Given the description of an element on the screen output the (x, y) to click on. 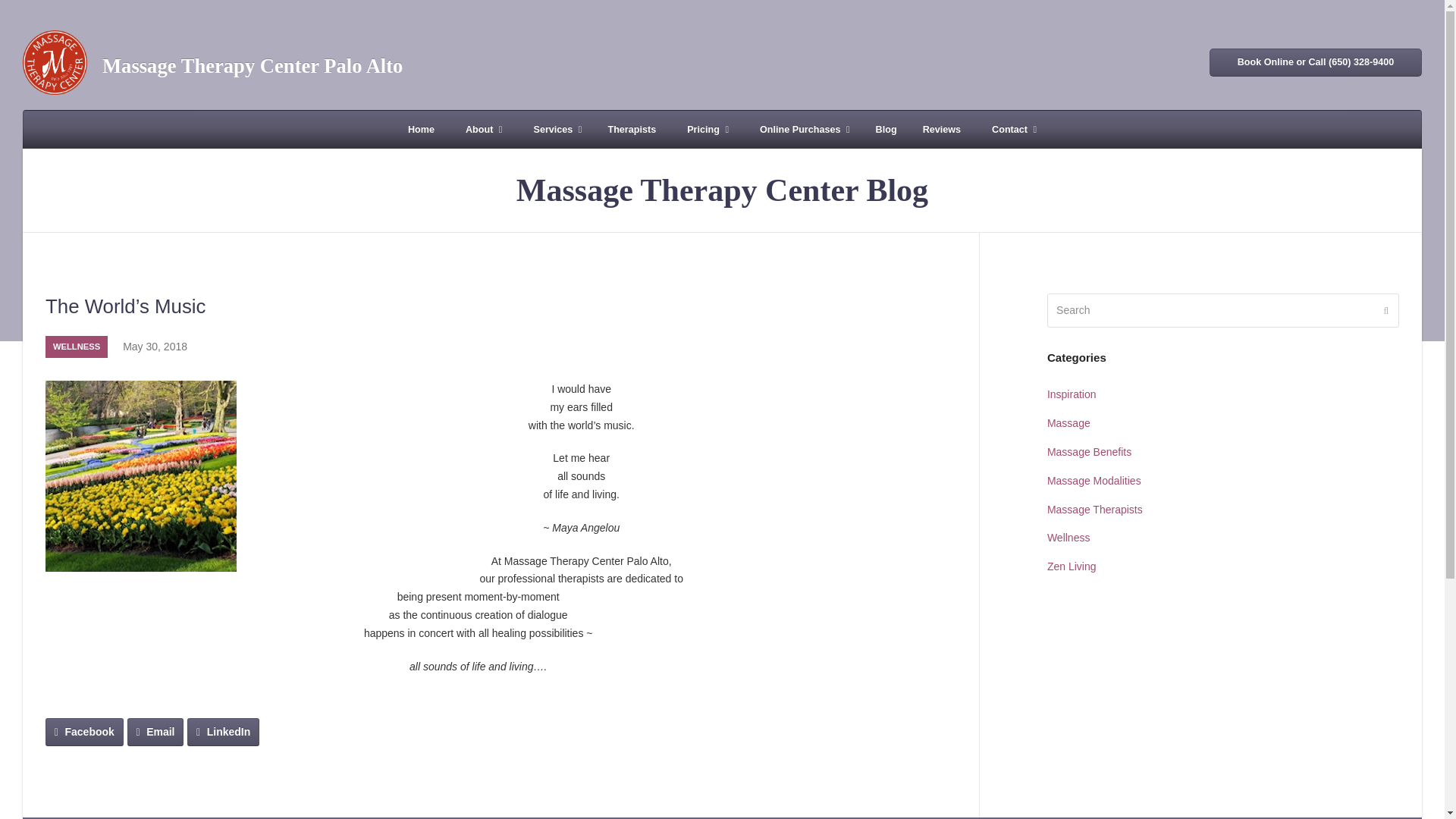
Online Purchases (801, 129)
Home (420, 129)
Contact (1011, 129)
Pricing (704, 129)
About (480, 129)
Blog (886, 129)
Reviews (941, 129)
Services (554, 129)
Therapists (630, 129)
